Given the description of an element on the screen output the (x, y) to click on. 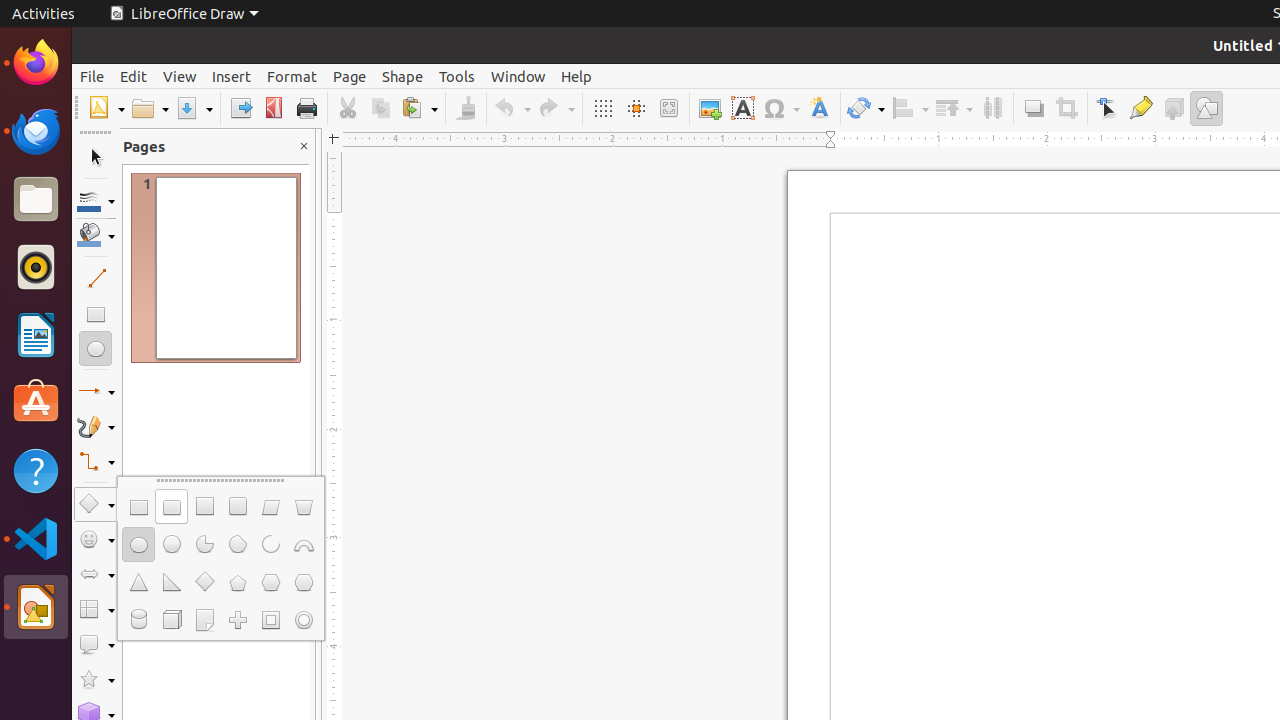
Open Element type: push-button (150, 108)
Tools Element type: menu (457, 76)
LibreOffice Draw Element type: push-button (36, 607)
Shape Element type: menu (402, 76)
Files Element type: push-button (36, 199)
